Given the description of an element on the screen output the (x, y) to click on. 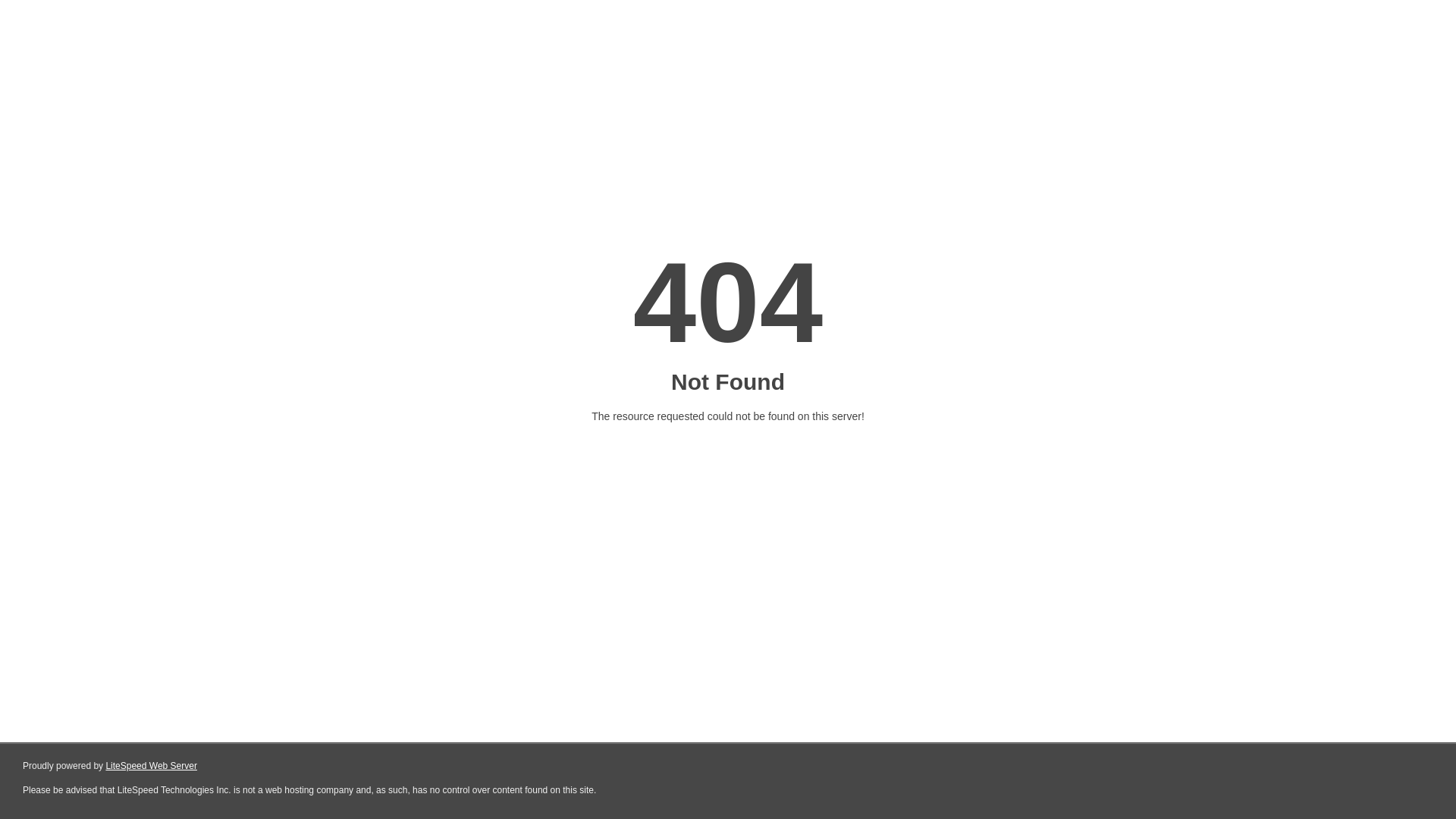
LiteSpeed Web Server Element type: text (151, 765)
